Given the description of an element on the screen output the (x, y) to click on. 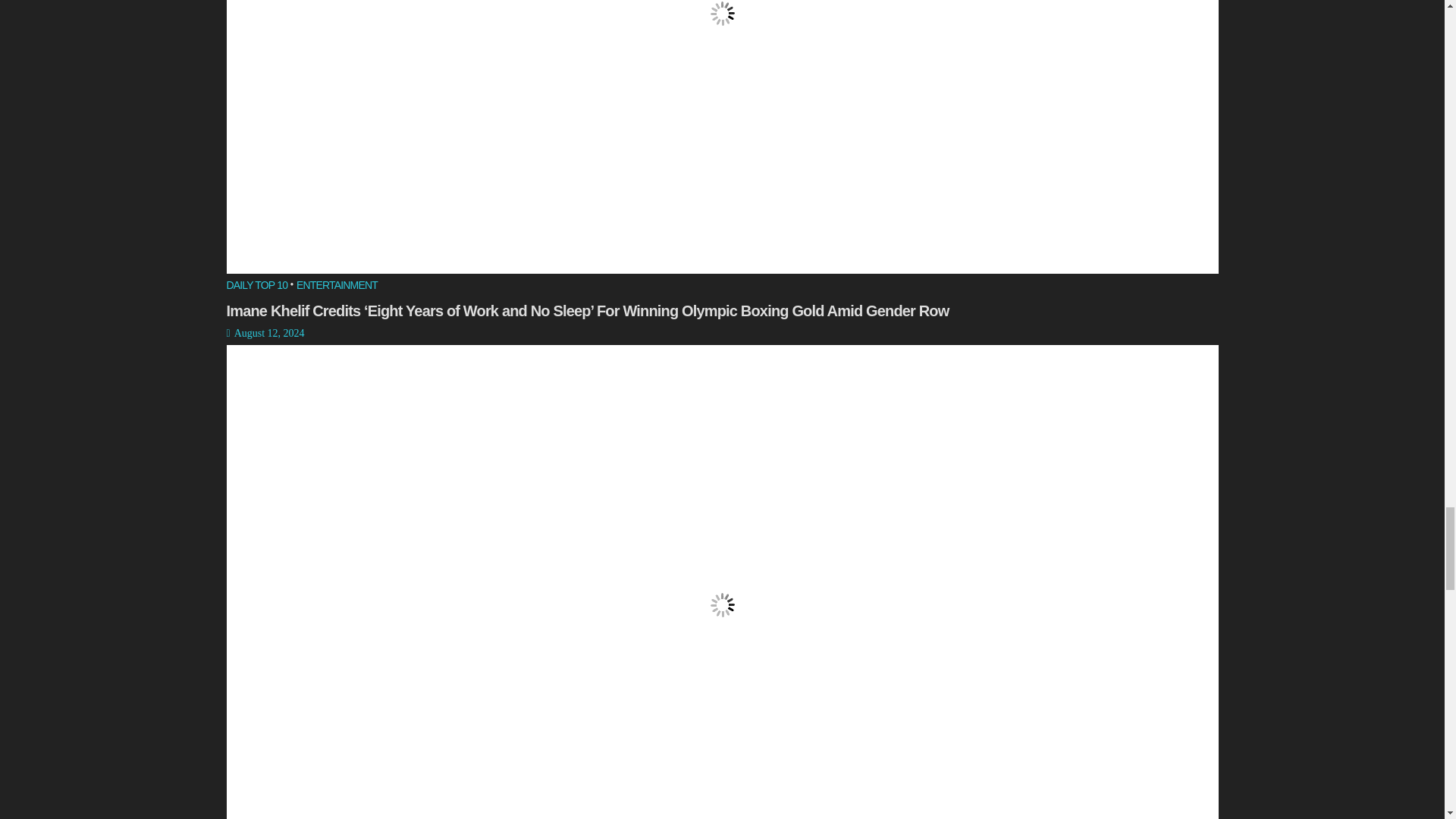
ENTERTAINMENT (337, 286)
DAILY TOP 10 (255, 286)
